Given the description of an element on the screen output the (x, y) to click on. 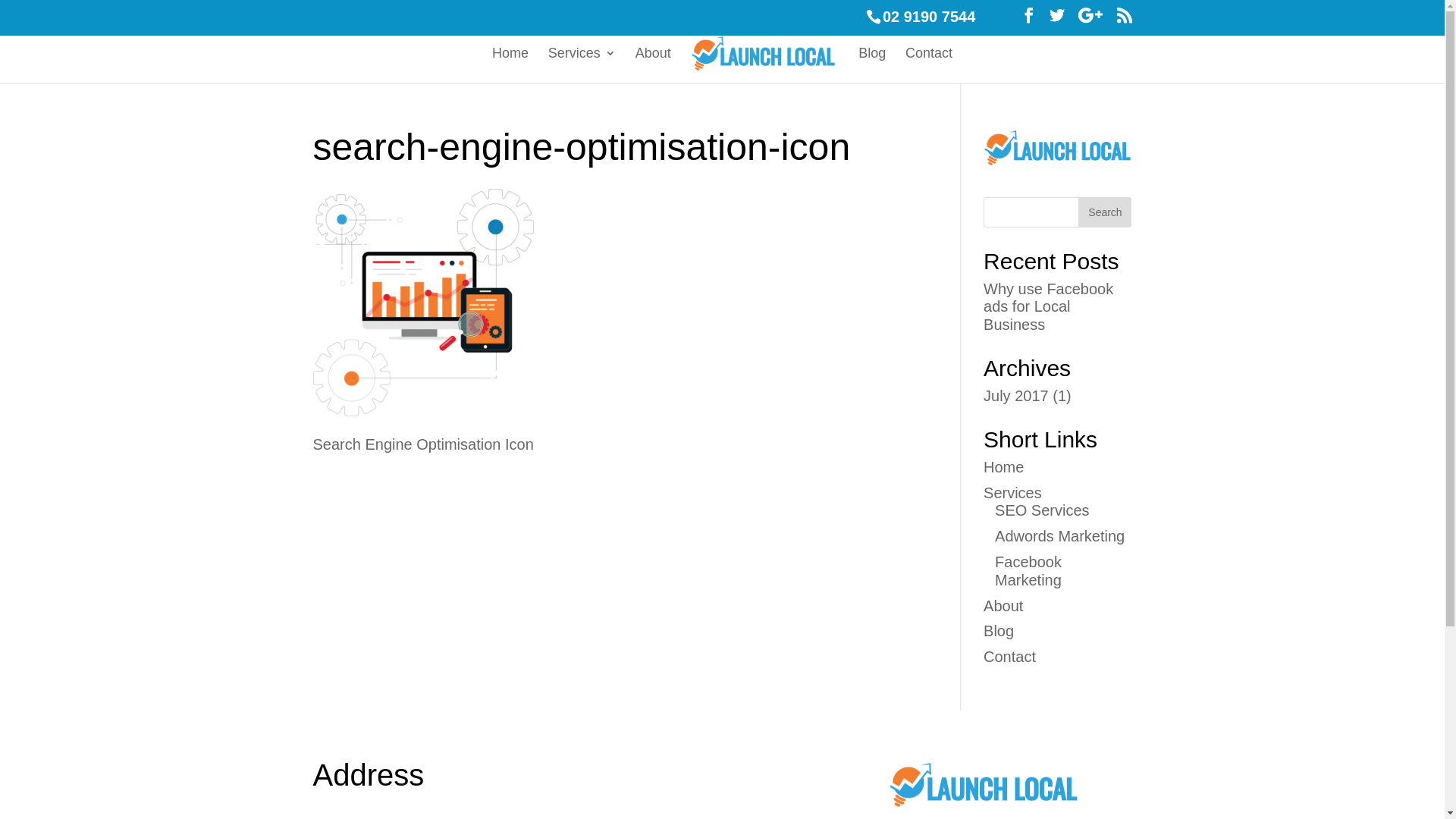
Services Element type: text (1012, 492)
Home Element type: text (510, 64)
Facebook Marketing Element type: text (1027, 570)
July 2017 Element type: text (1015, 395)
Blog Element type: text (871, 64)
SEO Services Element type: text (1041, 510)
Home Element type: text (1003, 466)
Adwords Marketing Element type: text (1059, 535)
Contact Element type: text (928, 64)
Why use Facebook ads for Local Business Element type: text (1048, 306)
About Element type: text (653, 64)
About Element type: text (1002, 605)
Services Element type: text (581, 64)
Blog Element type: text (998, 630)
02 9190 7544 Element type: text (928, 16)
Contact Element type: text (1009, 656)
Search Element type: text (1104, 212)
